Given the description of an element on the screen output the (x, y) to click on. 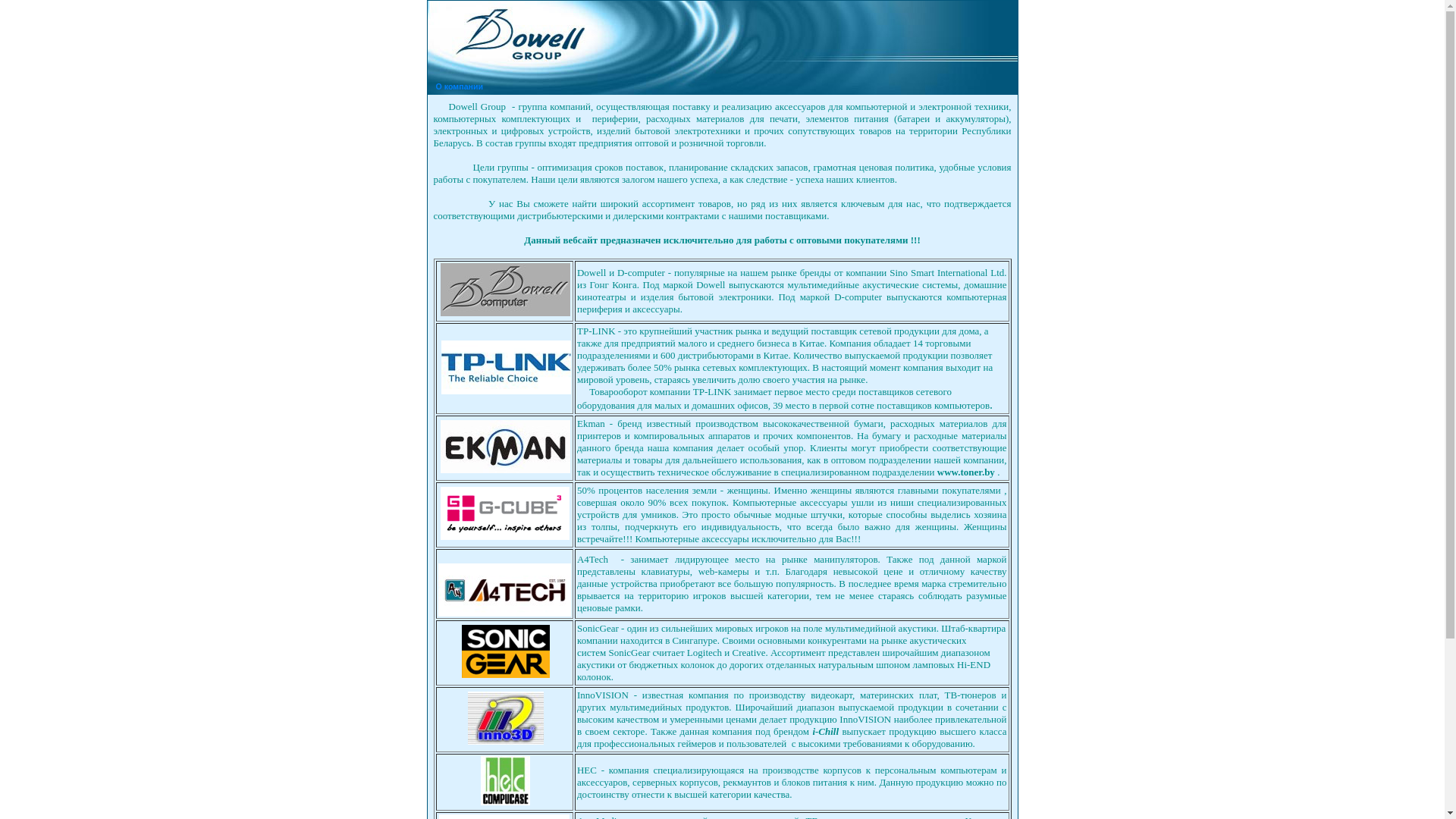
www.toner.by Element type: text (965, 471)
